Given the description of an element on the screen output the (x, y) to click on. 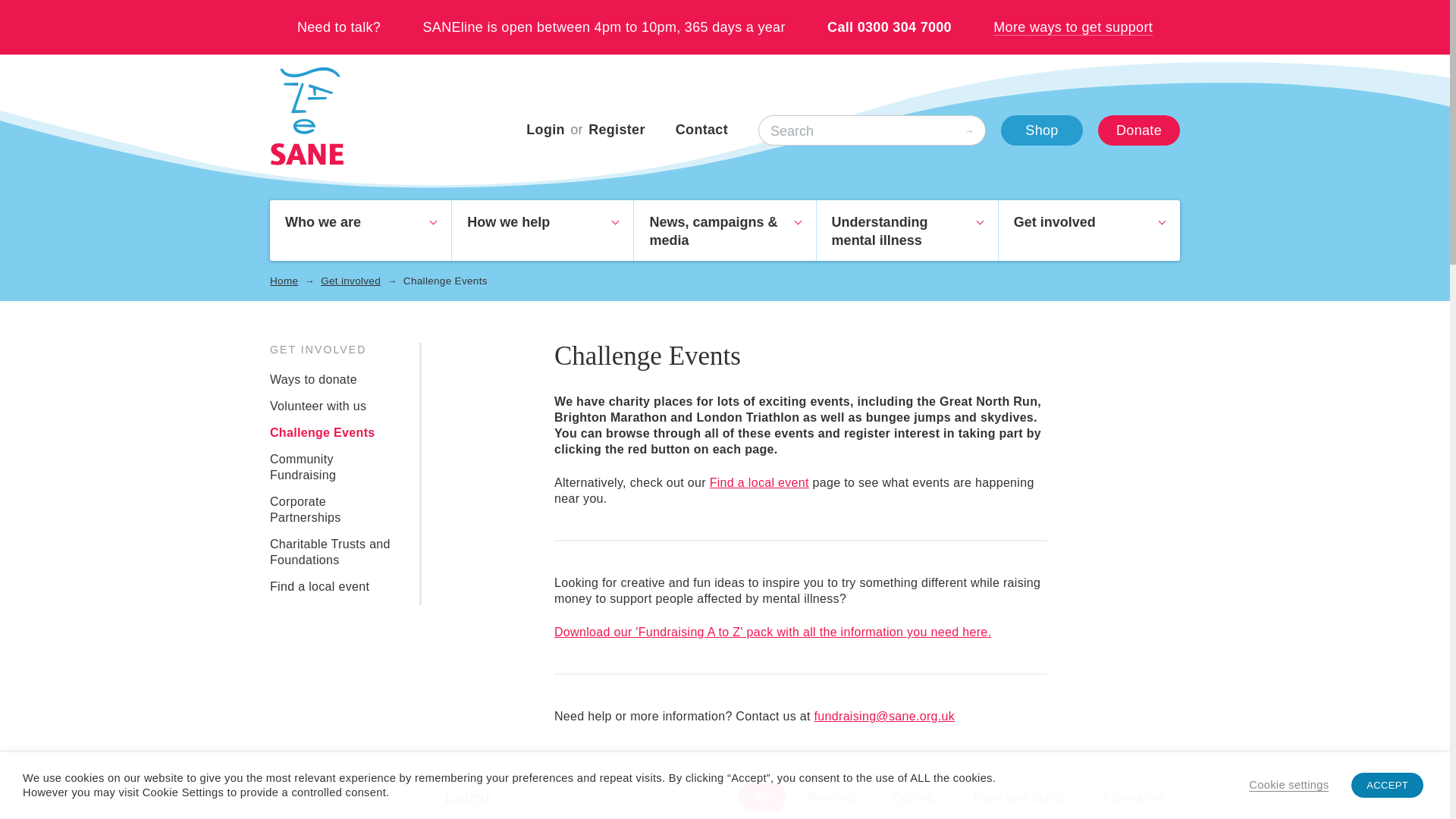
Contact (701, 129)
Register (811, 788)
Understanding mental illness (616, 129)
Shop (906, 230)
Who we are (1042, 130)
How we help (360, 230)
Donate (542, 230)
Login (1138, 130)
More ways to get support (544, 129)
